Given the description of an element on the screen output the (x, y) to click on. 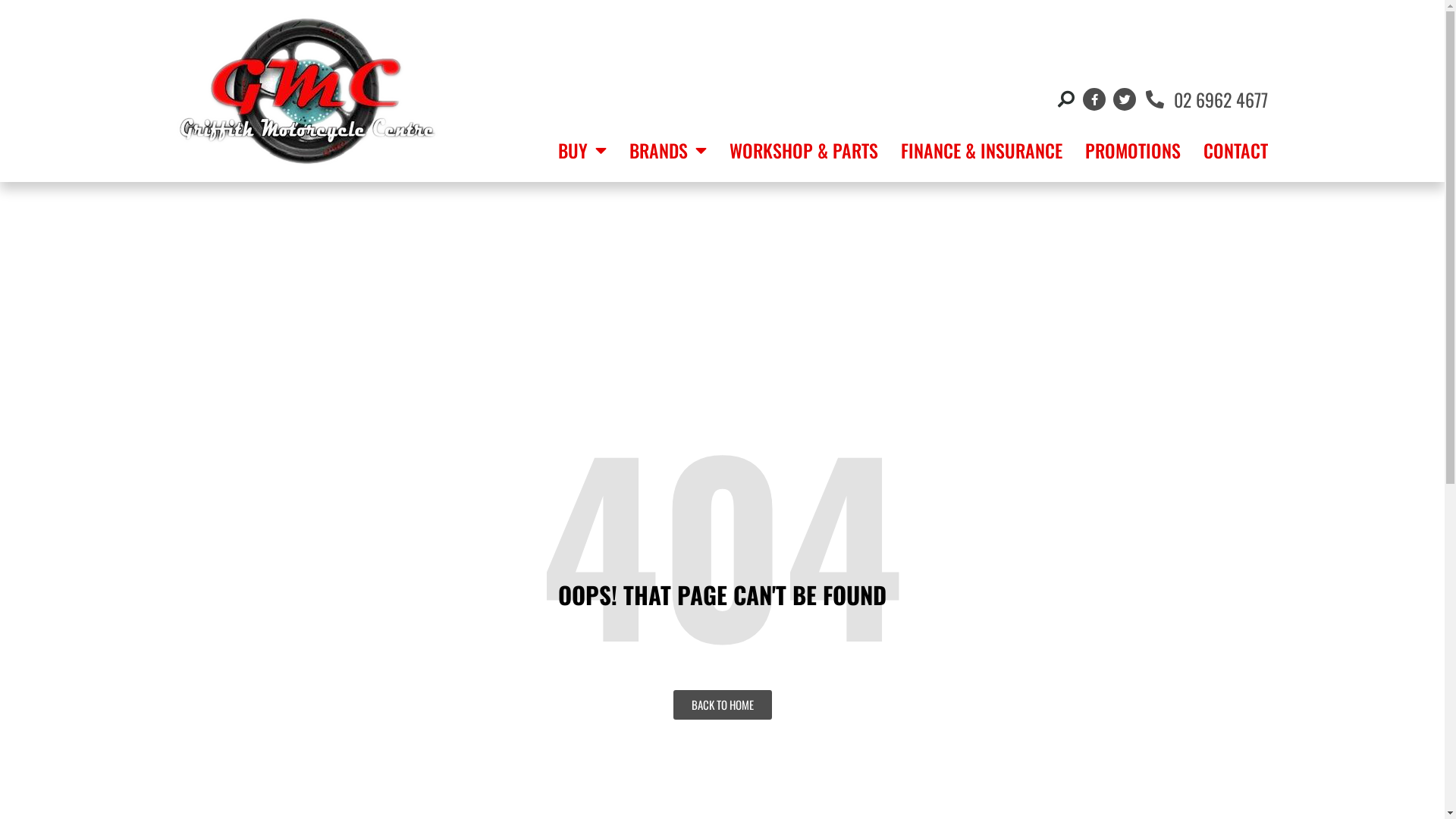
FINANCE & INSURANCE Element type: text (981, 149)
WORKSHOP & PARTS Element type: text (803, 149)
CONTACT Element type: text (1235, 149)
BUY Element type: text (582, 149)
PROMOTIONS Element type: text (1132, 149)
BRANDS Element type: text (667, 149)
BACK TO HOME Element type: text (722, 704)
02 6962 4677 Element type: text (1205, 99)
